Given the description of an element on the screen output the (x, y) to click on. 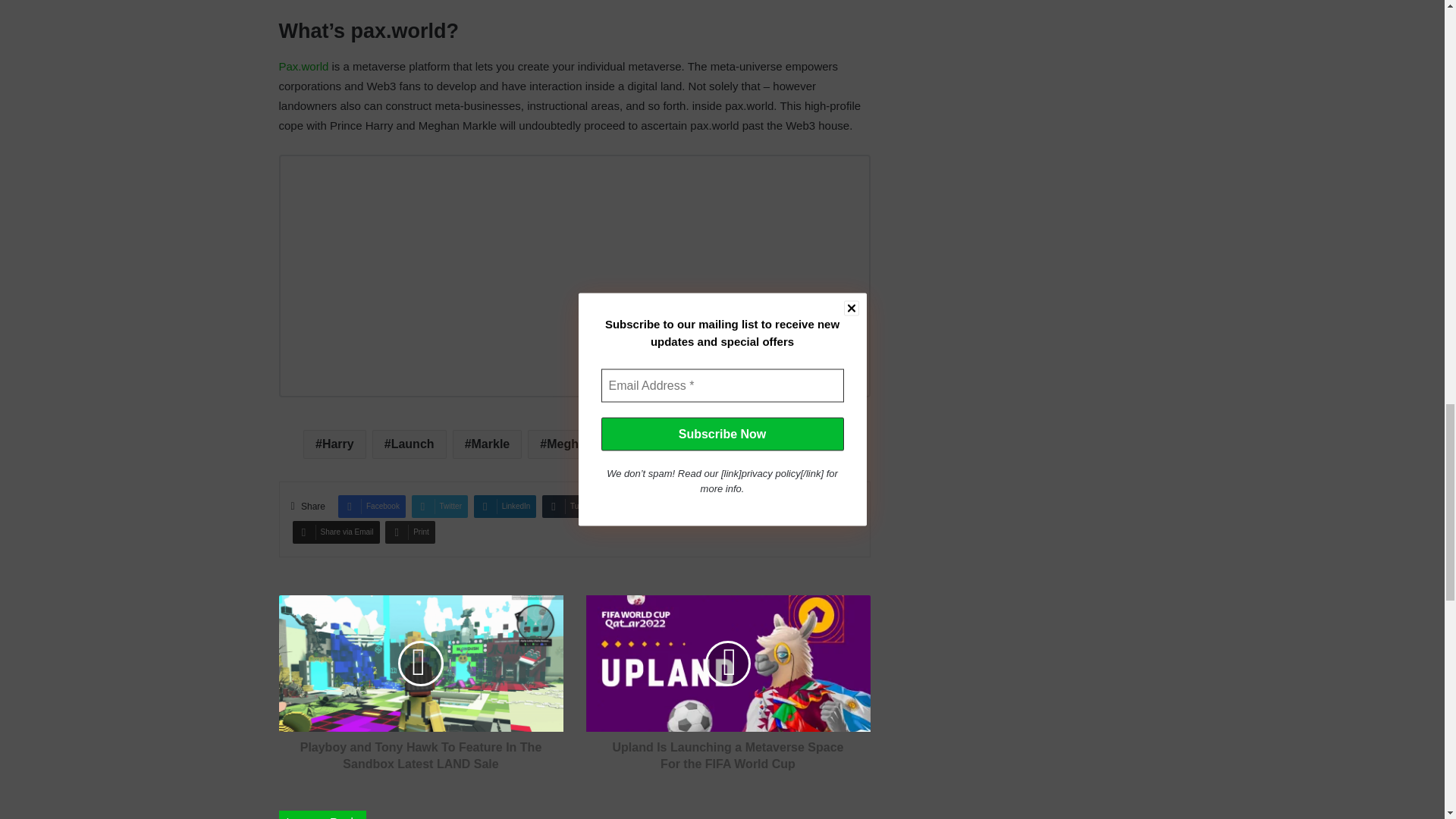
Pax.world (304, 65)
Harry (334, 443)
